Given the description of an element on the screen output the (x, y) to click on. 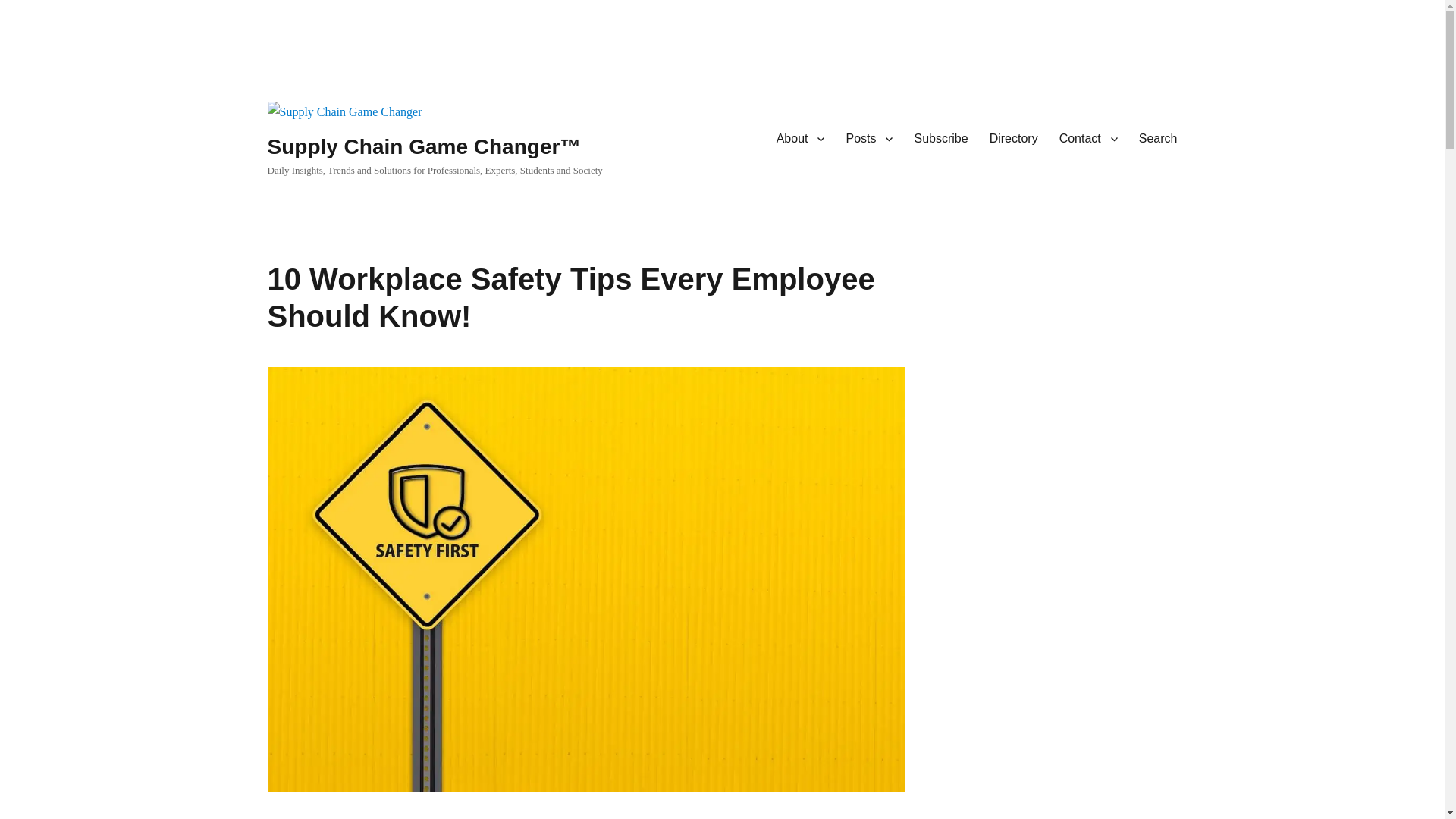
Search (1158, 138)
Posts (868, 138)
Directory (1013, 138)
Subscribe (940, 138)
Contact (1088, 138)
About (800, 138)
